Given the description of an element on the screen output the (x, y) to click on. 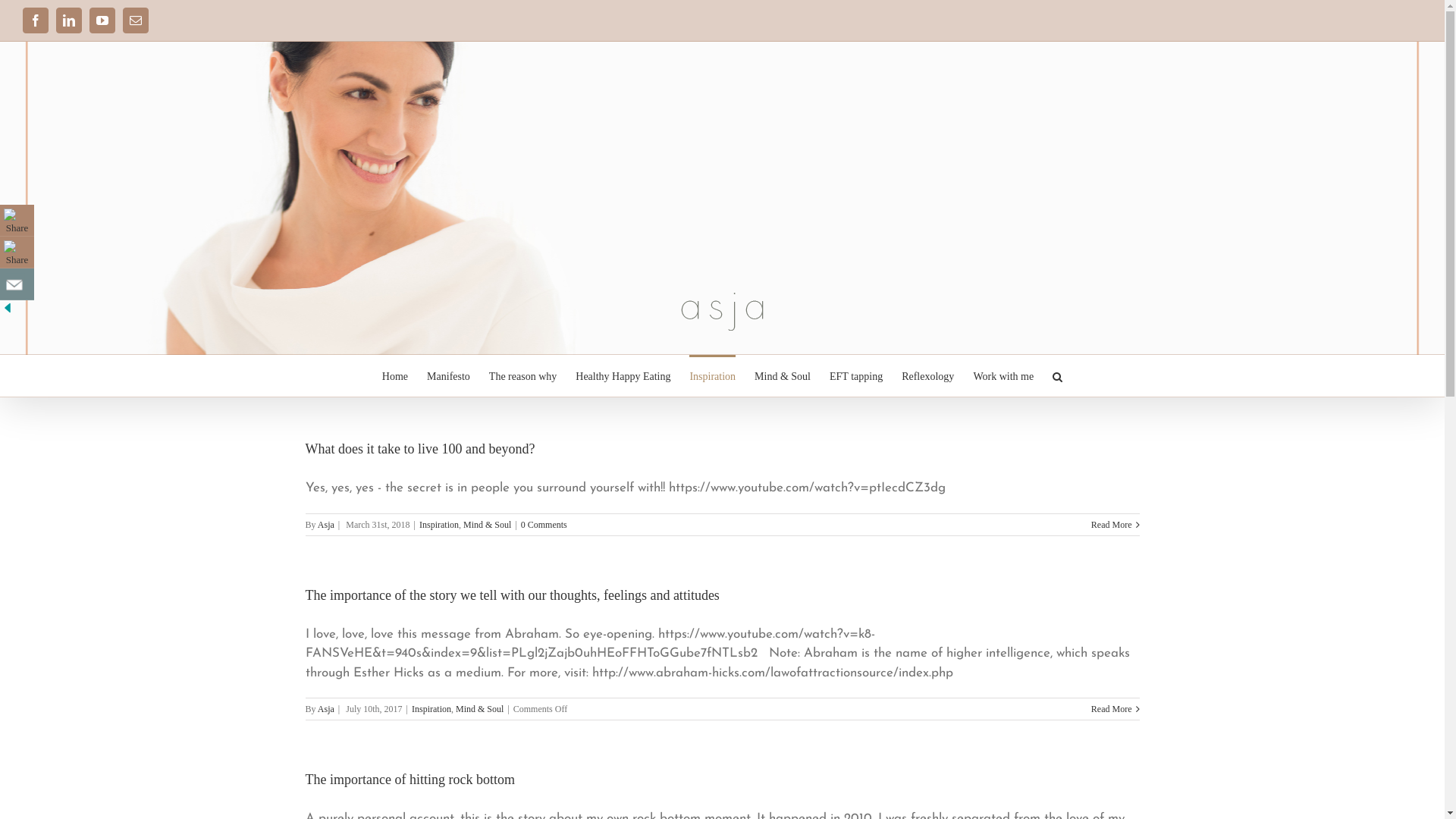
Facebook Element type: text (35, 20)
Inspiration Element type: text (438, 523)
Work with me Element type: text (1002, 375)
Home Element type: text (394, 375)
Mind & Soul Element type: text (487, 523)
Mind & Soul Element type: text (479, 708)
Manifesto Element type: text (448, 375)
Asja Element type: text (325, 708)
Inspiration Element type: text (712, 375)
Read More Element type: text (1111, 523)
What does it take to live 100 and beyond? Element type: text (419, 448)
Reflexology Element type: text (927, 375)
Mind & Soul Element type: text (782, 375)
Contact us Element type: hover (17, 284)
Email Element type: text (135, 20)
Youtube Element type: text (102, 20)
Hide Buttons Element type: hover (7, 307)
EFT tapping Element type: text (855, 375)
The reason why Element type: text (522, 375)
The importance of hitting rock bottom Element type: text (409, 779)
Share This With Your Friends Element type: hover (18, 259)
Read More Element type: text (1111, 708)
Linkedin Element type: text (68, 20)
Share On Facebook Element type: hover (17, 220)
0 Comments Element type: text (543, 523)
Healthy Happy Eating Element type: text (622, 375)
Inspiration Element type: text (431, 708)
Share On Linkedin Element type: hover (17, 252)
Asja Element type: text (325, 523)
